Given the description of an element on the screen output the (x, y) to click on. 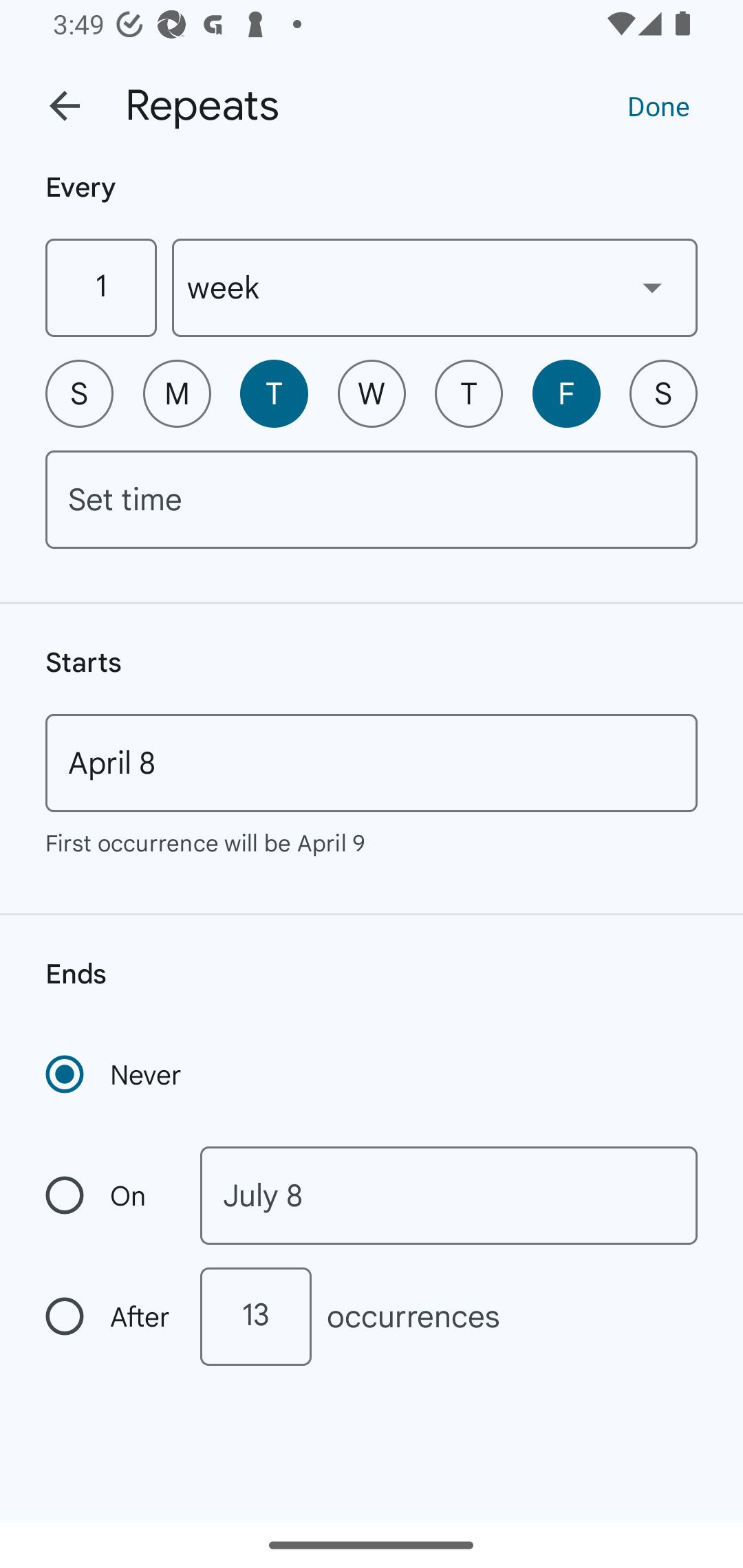
Back (64, 105)
Done (658, 105)
1 (100, 287)
week (434, 287)
Show dropdown menu (652, 286)
S Sunday (79, 393)
M Monday (177, 393)
T Tuesday, selected (273, 393)
W Wednesday (371, 393)
T Thursday (468, 393)
F Friday, selected (566, 393)
S Saturday (663, 393)
Set time (371, 499)
April 8 (371, 762)
Never Recurrence never ends (115, 1074)
July 8 (448, 1195)
On Recurrence ends on a specific date (109, 1195)
13 (255, 1315)
